Given the description of an element on the screen output the (x, y) to click on. 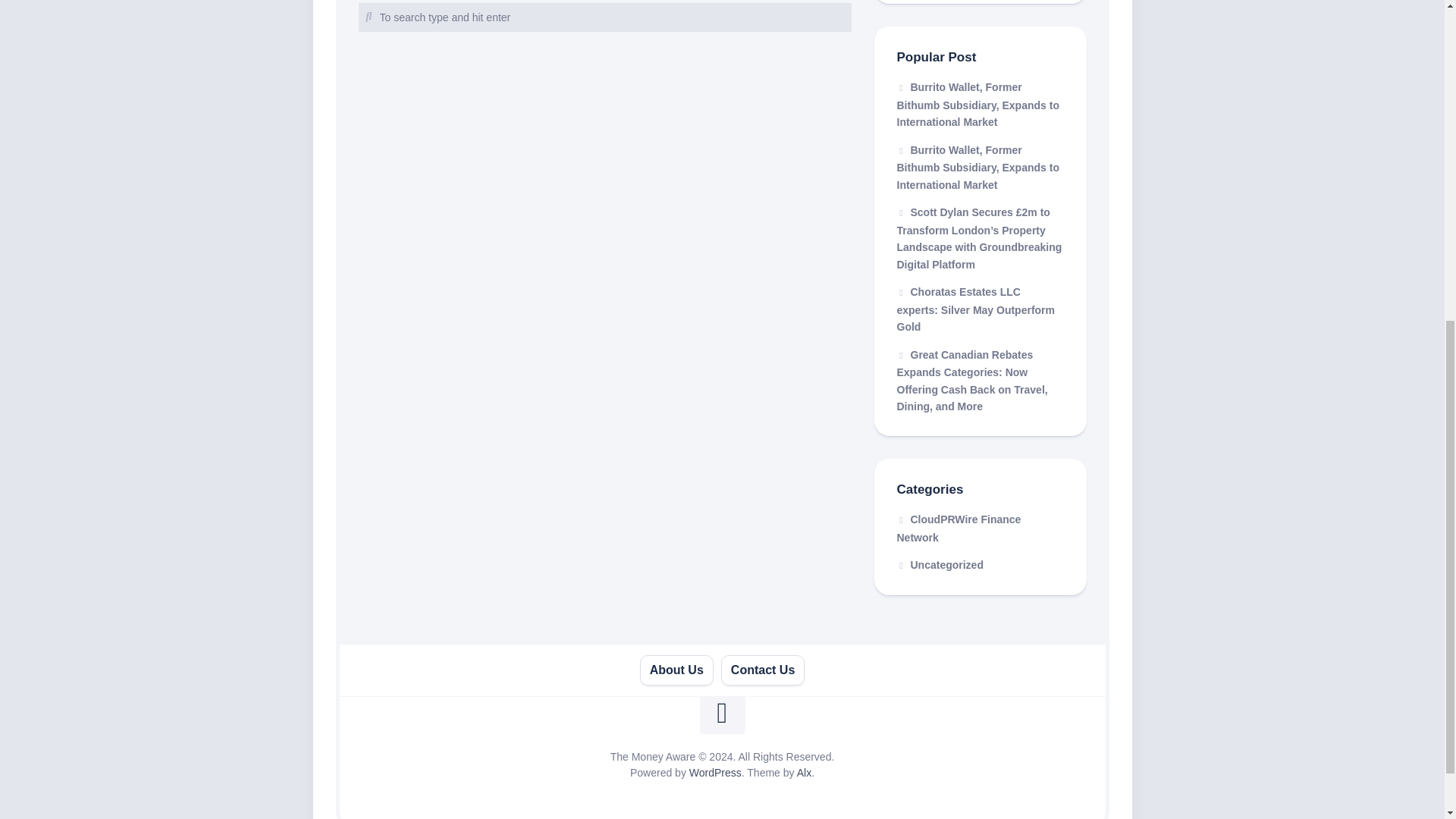
Uncategorized (939, 564)
Choratas Estates LLC experts: Silver May Outperform Gold (975, 308)
CloudPRWire Finance Network (958, 528)
To search type and hit enter (604, 17)
About Us (676, 669)
WordPress (714, 772)
To search type and hit enter (604, 17)
Contact Us (762, 669)
Alx (803, 772)
